Given the description of an element on the screen output the (x, y) to click on. 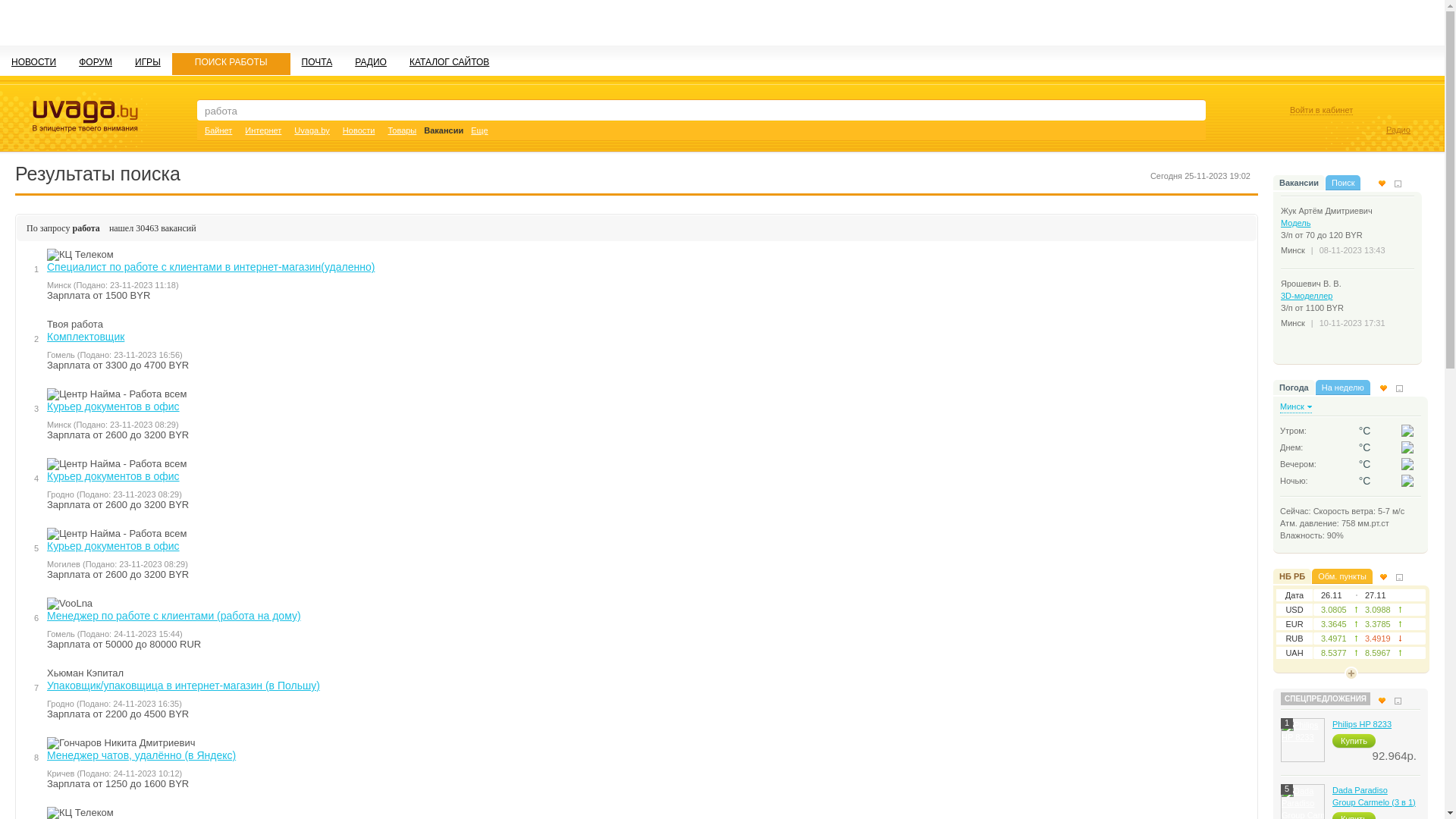
VooLna Element type: hover (69, 603)
1 Element type: text (1302, 740)
Uvaga.by Element type: text (311, 130)
Philips HP 8233 Element type: text (1361, 723)
  Element type: hover (1407, 430)
  Element type: hover (1407, 447)
  Element type: hover (1407, 464)
  Element type: hover (1407, 480)
